Given the description of an element on the screen output the (x, y) to click on. 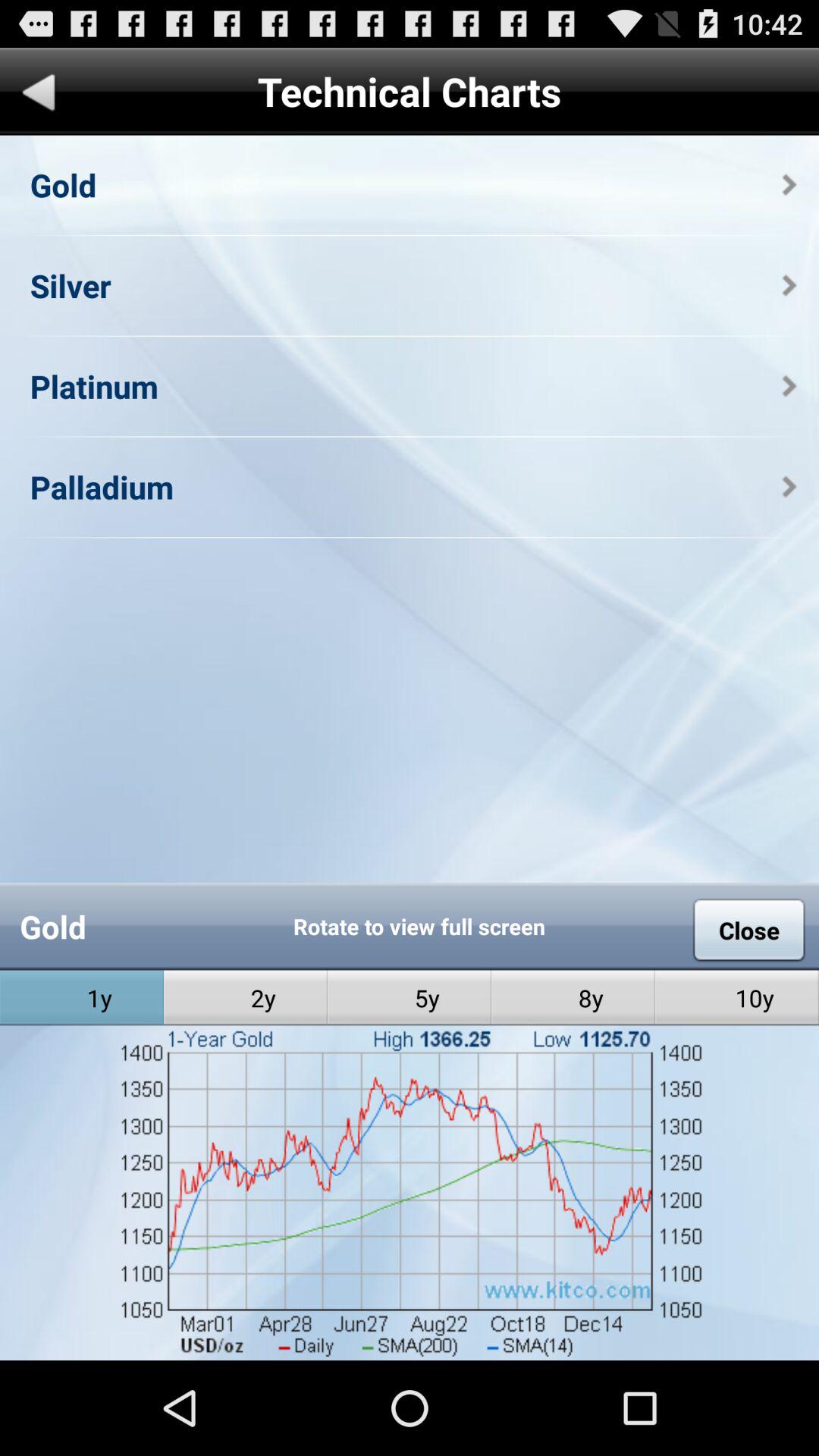
go back (39, 95)
